Given the description of an element on the screen output the (x, y) to click on. 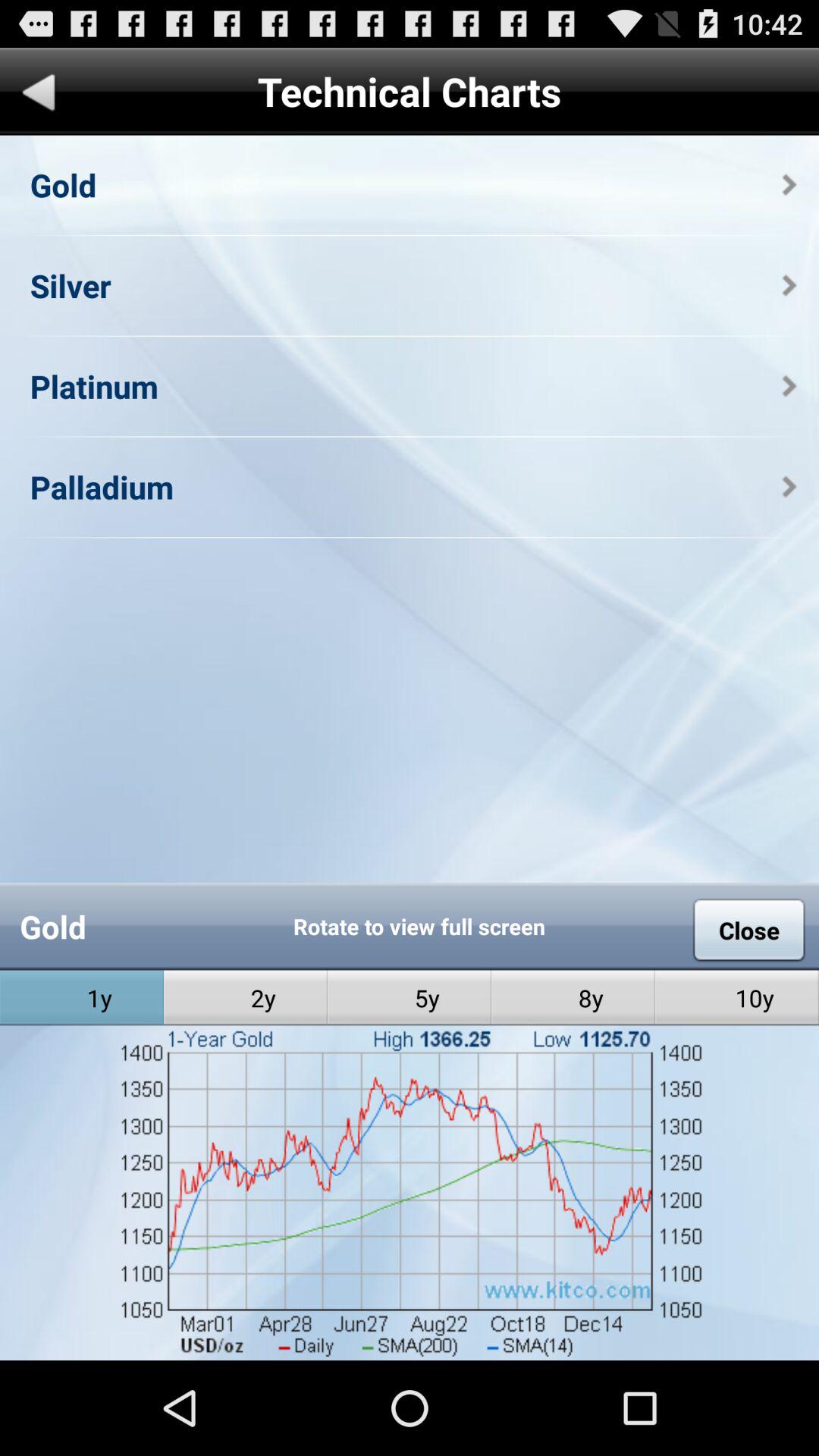
go back (39, 95)
